Given the description of an element on the screen output the (x, y) to click on. 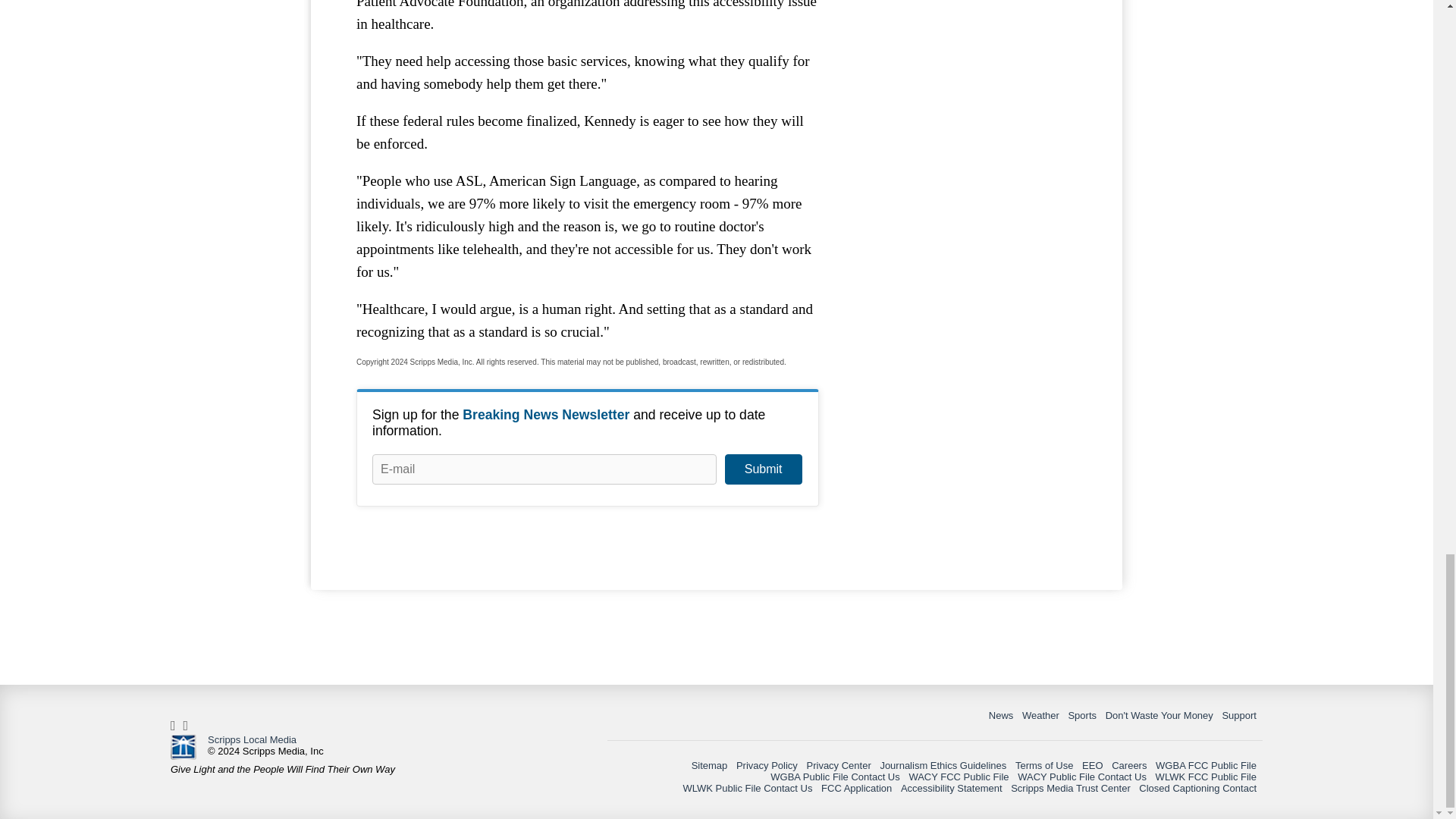
Submit (763, 469)
